Given the description of an element on the screen output the (x, y) to click on. 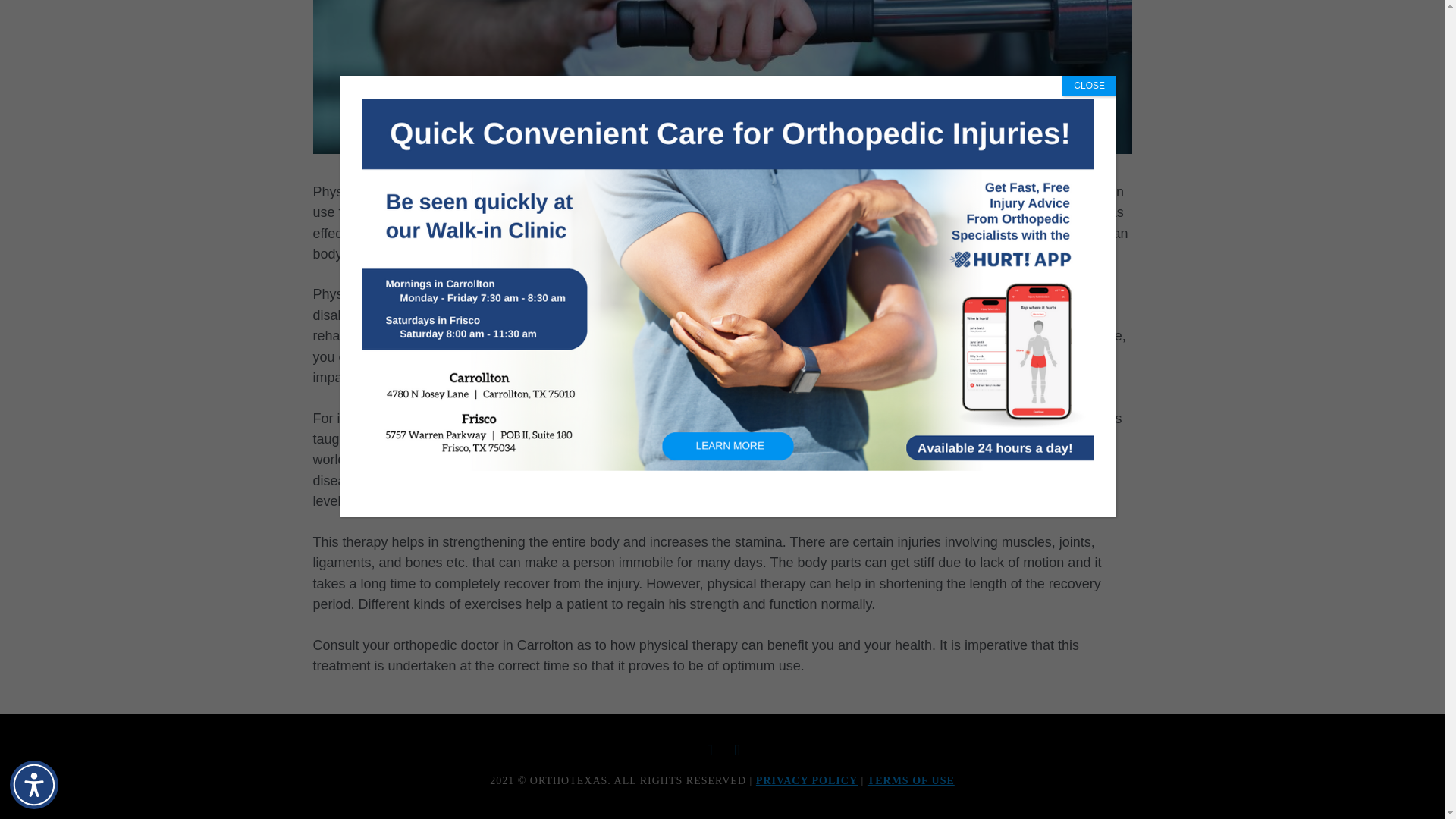
Accessibility Menu (34, 377)
